Given the description of an element on the screen output the (x, y) to click on. 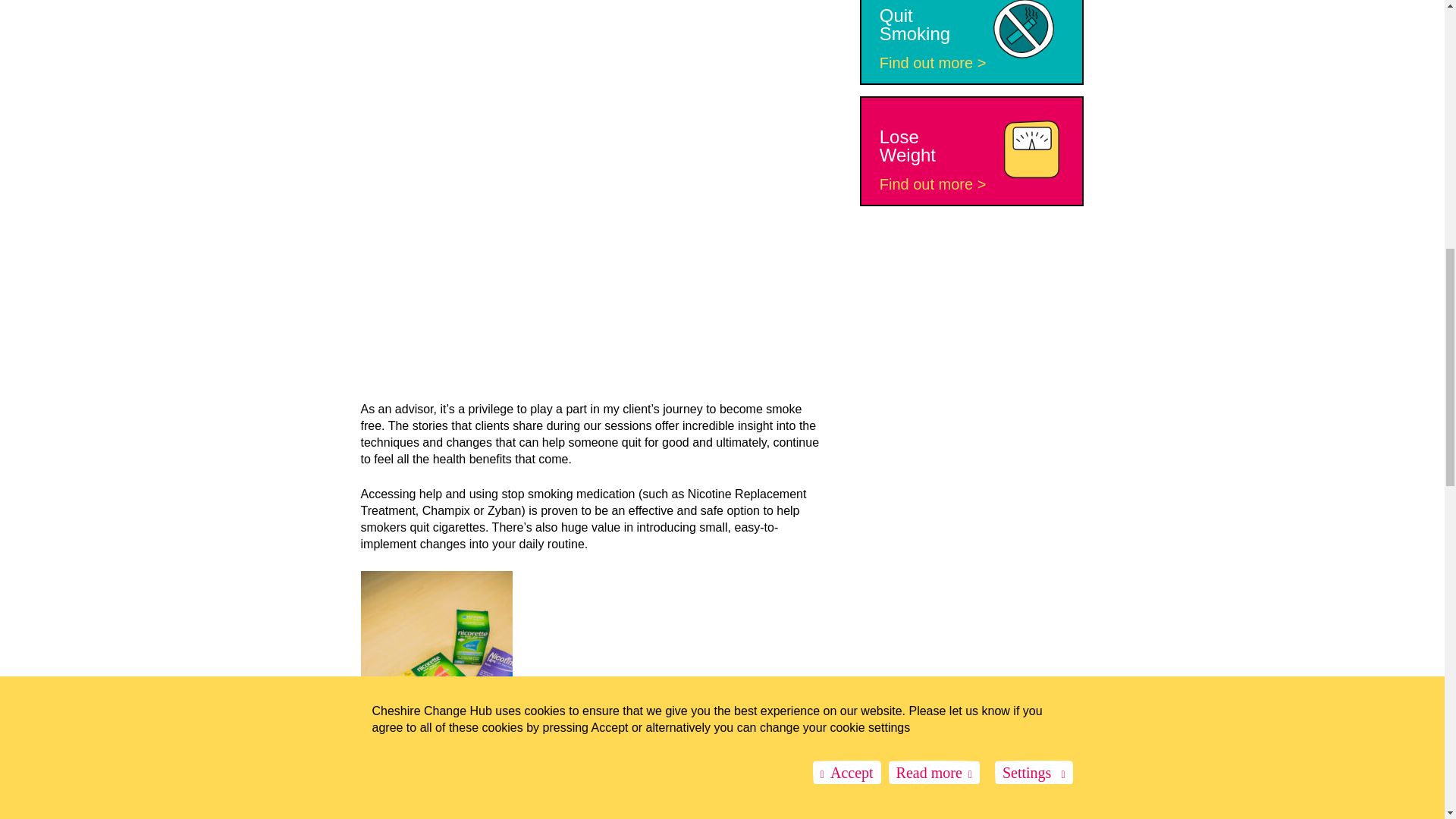
Sarah Stop Smoking Tips (463, 171)
